Given the description of an element on the screen output the (x, y) to click on. 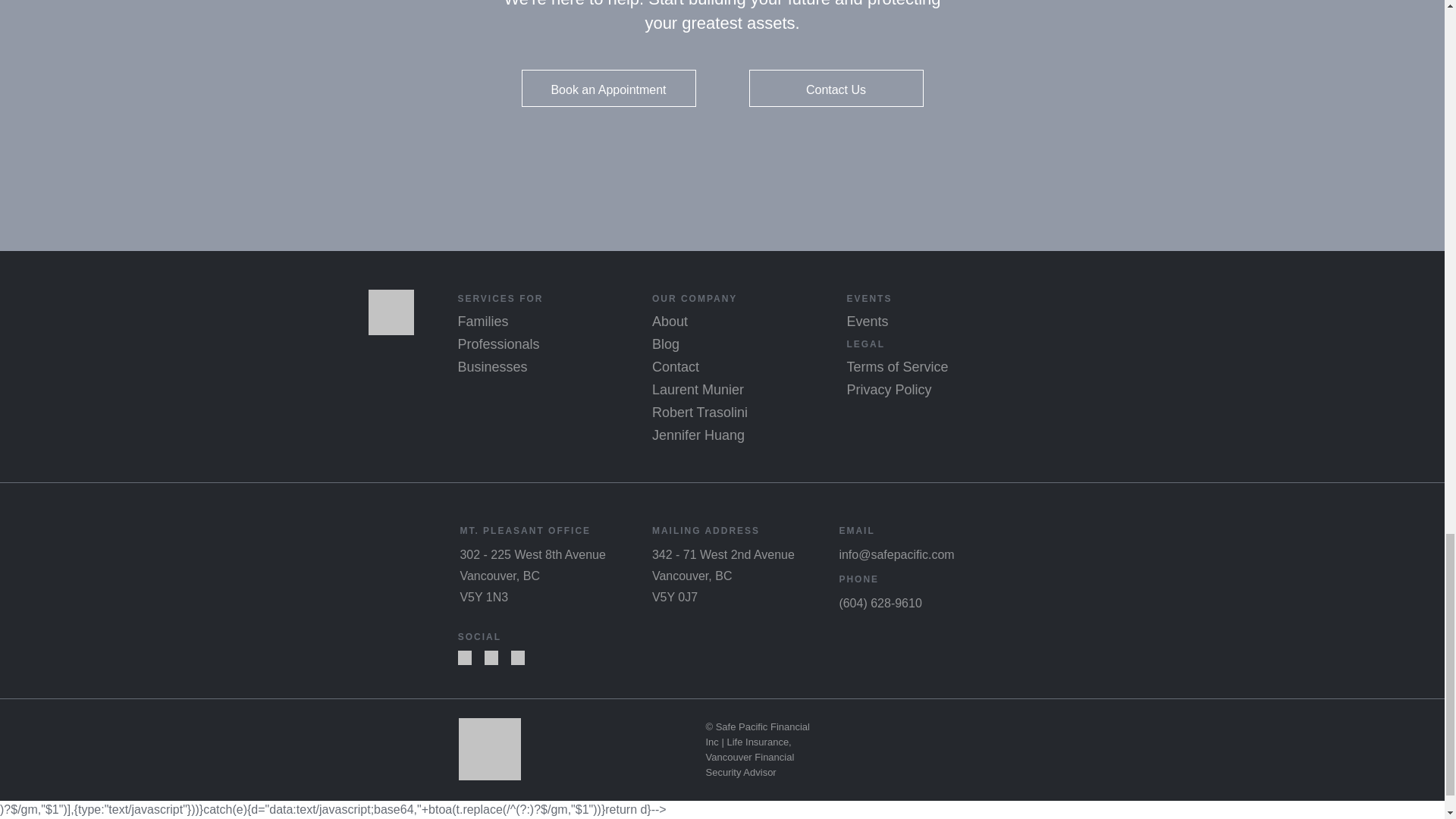
Jennifer Huang (698, 435)
Book an Appointment (608, 88)
Families (482, 321)
Terms of Service (896, 366)
Businesses (492, 366)
About (669, 321)
Professionals (497, 344)
Laurent Munier (698, 389)
Events (866, 321)
Contact (675, 366)
Blog (665, 344)
Contact Us (836, 88)
Robert Trasolini (700, 412)
